Given the description of an element on the screen output the (x, y) to click on. 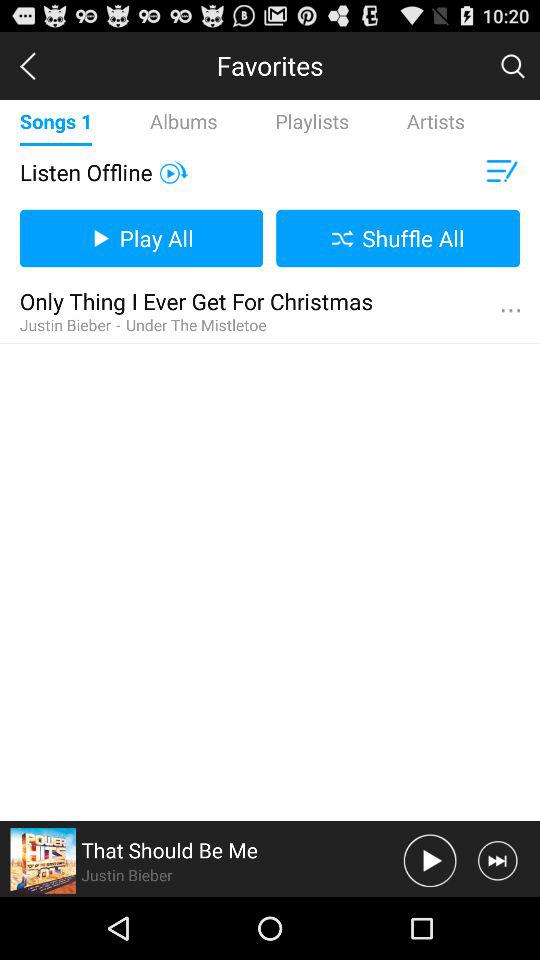
fast forward (497, 860)
